Given the description of an element on the screen output the (x, y) to click on. 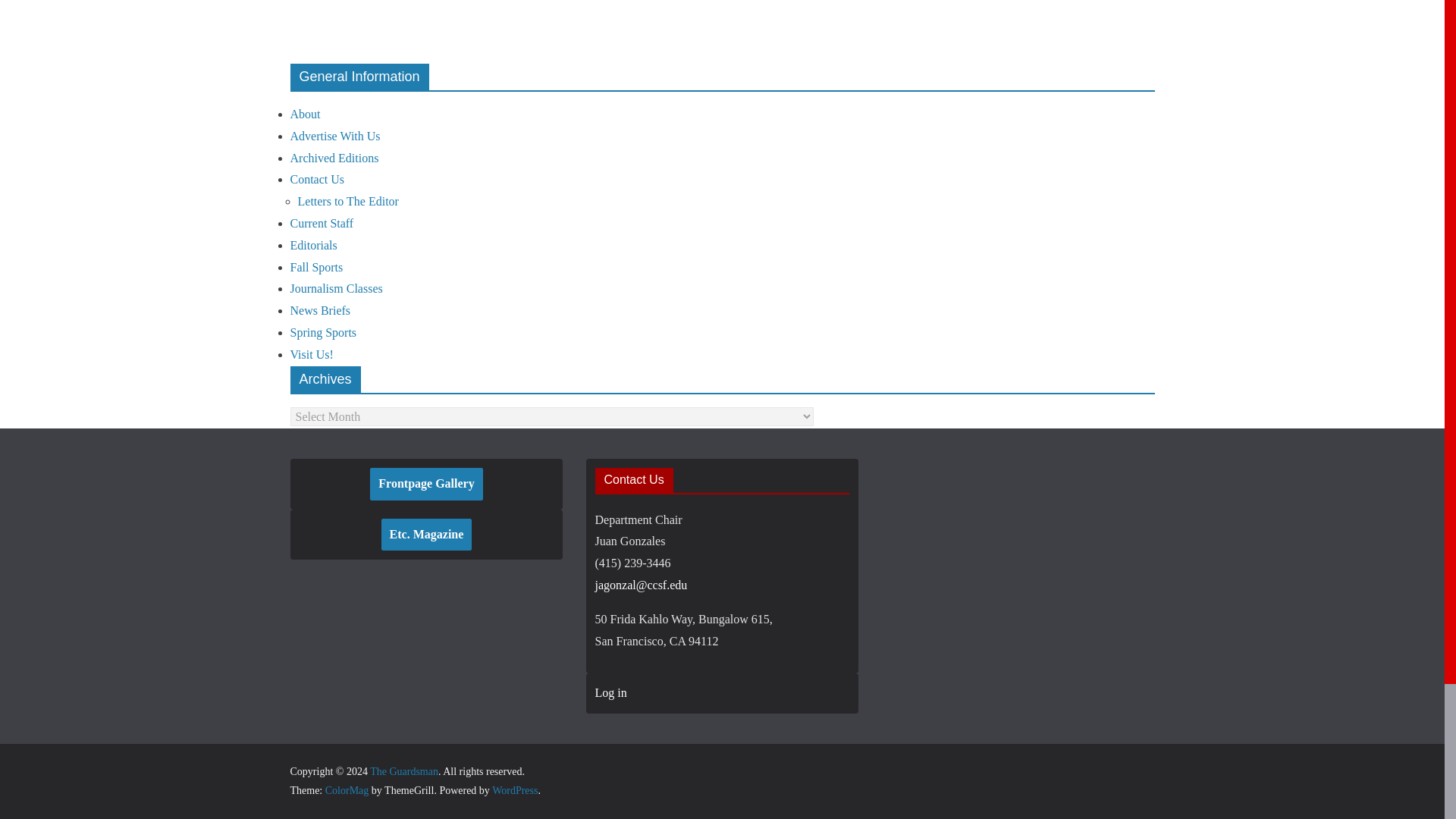
About (304, 113)
Advertise With Us (334, 135)
WordPress (514, 790)
The Guardsman (403, 771)
Contact Us (316, 178)
ColorMag (346, 790)
Archived Editions (333, 157)
